Given the description of an element on the screen output the (x, y) to click on. 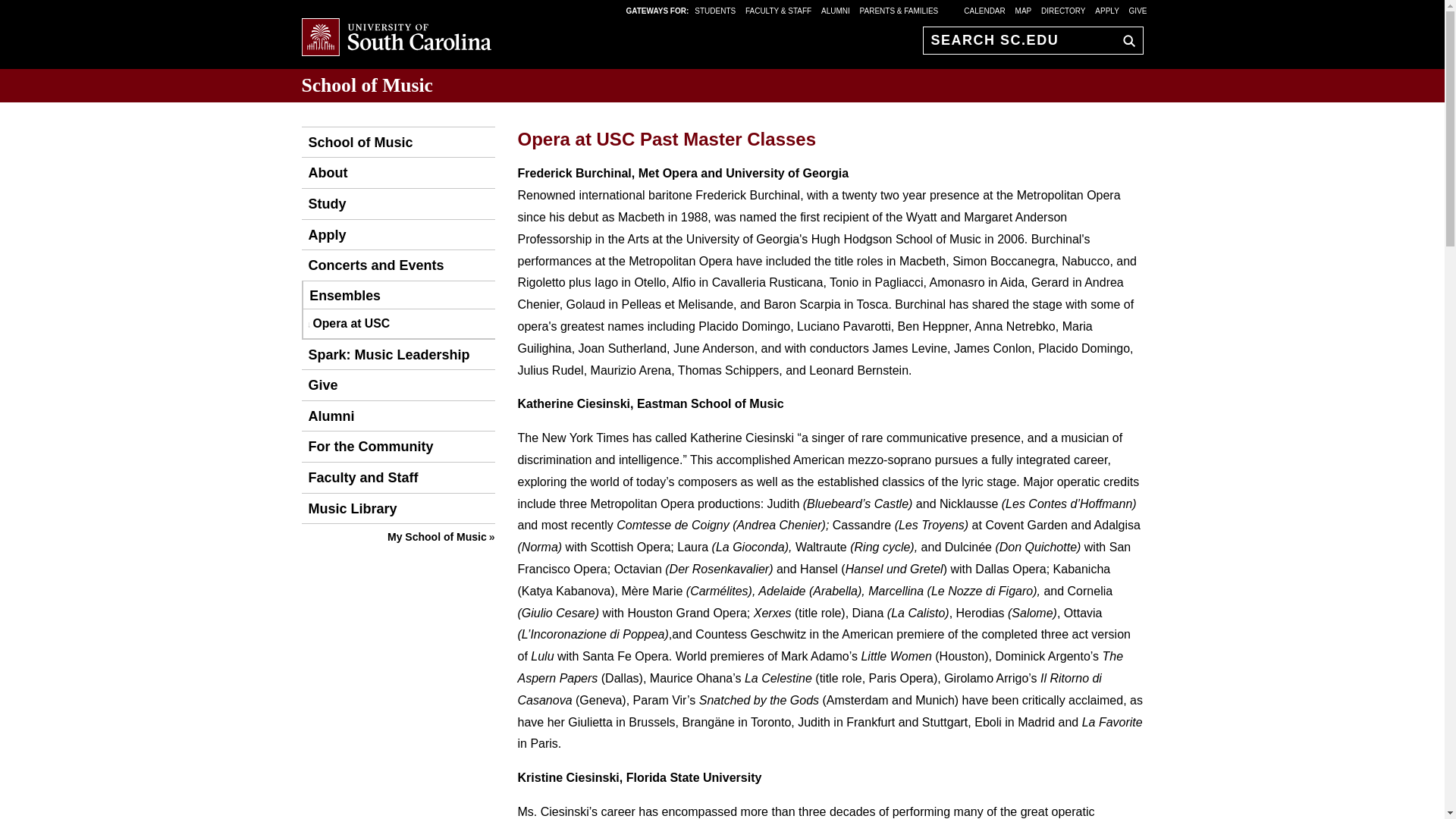
STUDENTS (716, 9)
ALUMNI (835, 9)
GIVE (1138, 9)
APPLY (1106, 9)
DIRECTORY (1063, 9)
sc.edu Search (1125, 40)
GO (1125, 40)
CALENDAR (983, 9)
MAP (1023, 9)
GO (1125, 40)
